Given the description of an element on the screen output the (x, y) to click on. 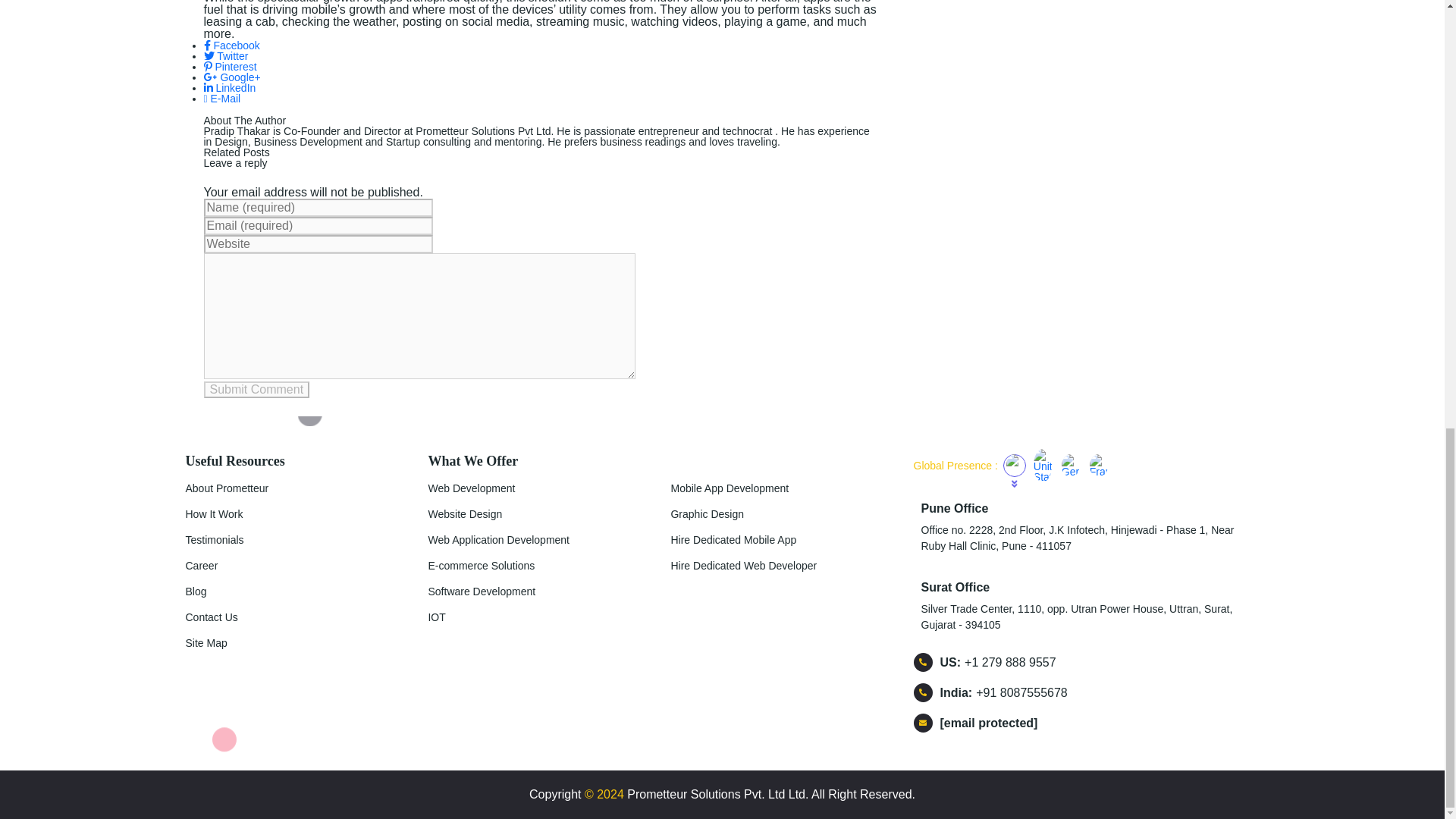
Share via Pinterest (229, 66)
Share via E-Mail (221, 98)
Submit Comment (255, 389)
Share via Facebook (231, 45)
Share via LinkedIn (229, 87)
Share via Twitter (225, 55)
